Given the description of an element on the screen output the (x, y) to click on. 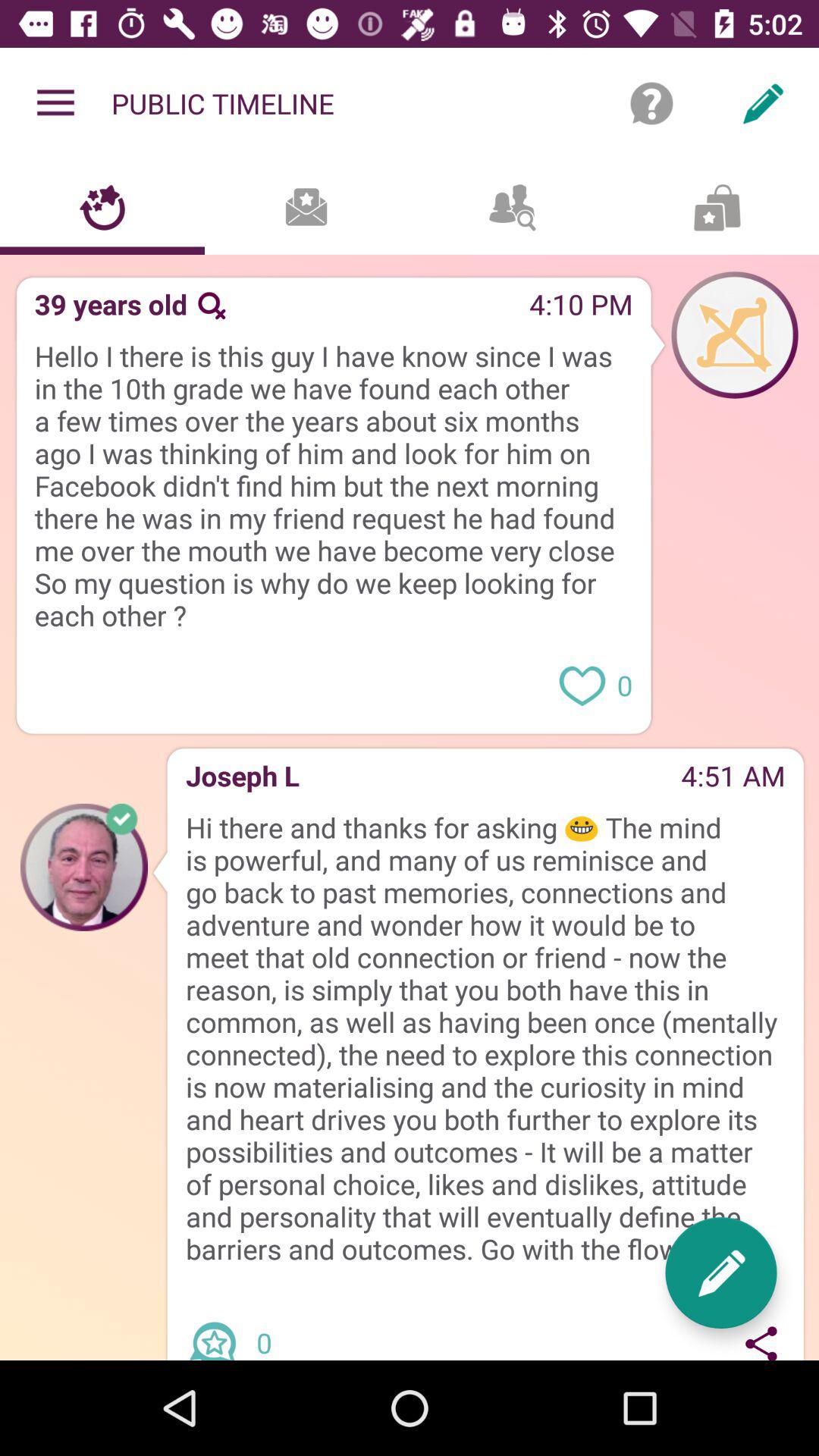
press the item to the right of the joseph l (490, 780)
